Given the description of an element on the screen output the (x, y) to click on. 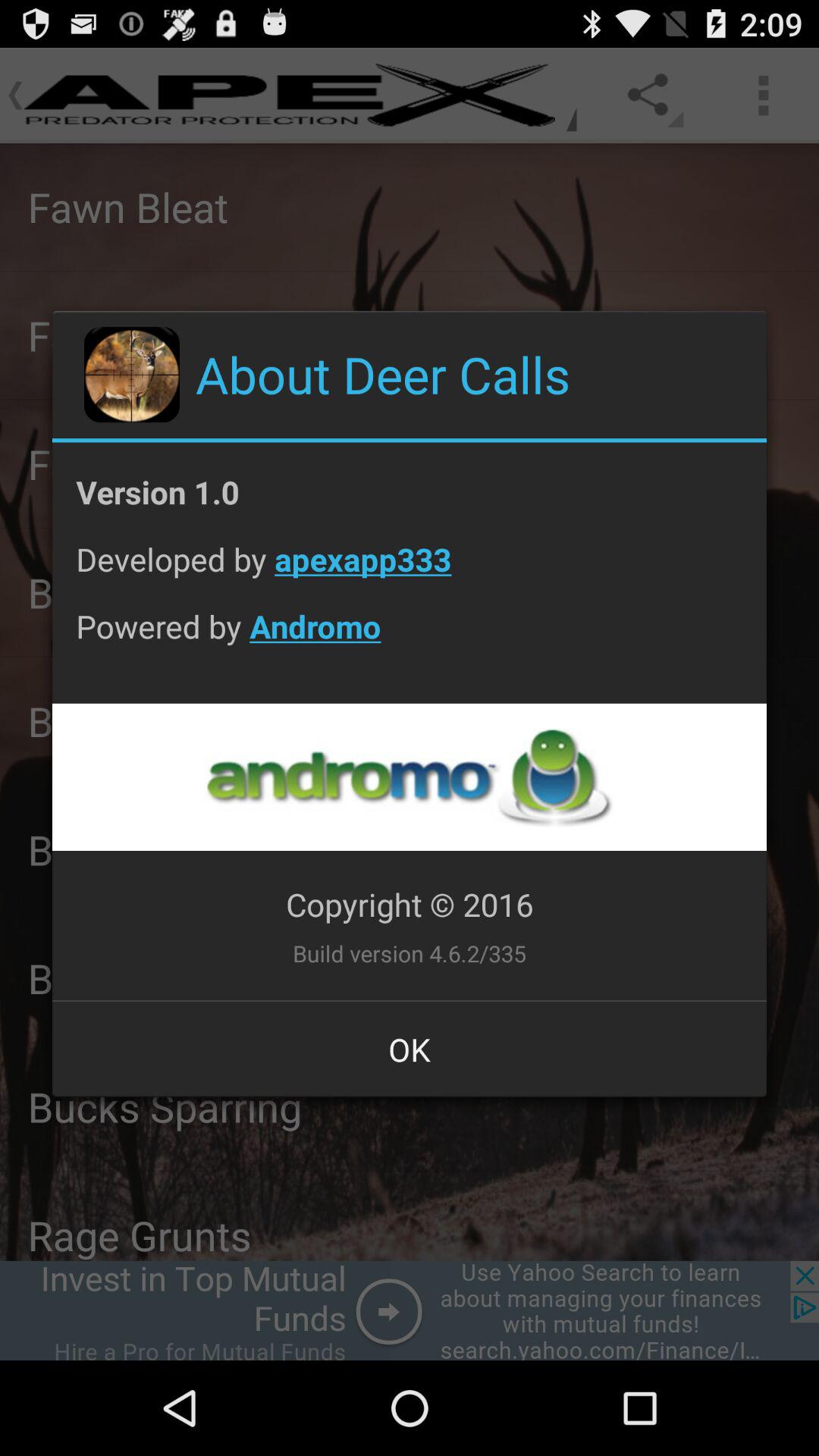
flip to the powered by andromo (409, 637)
